Given the description of an element on the screen output the (x, y) to click on. 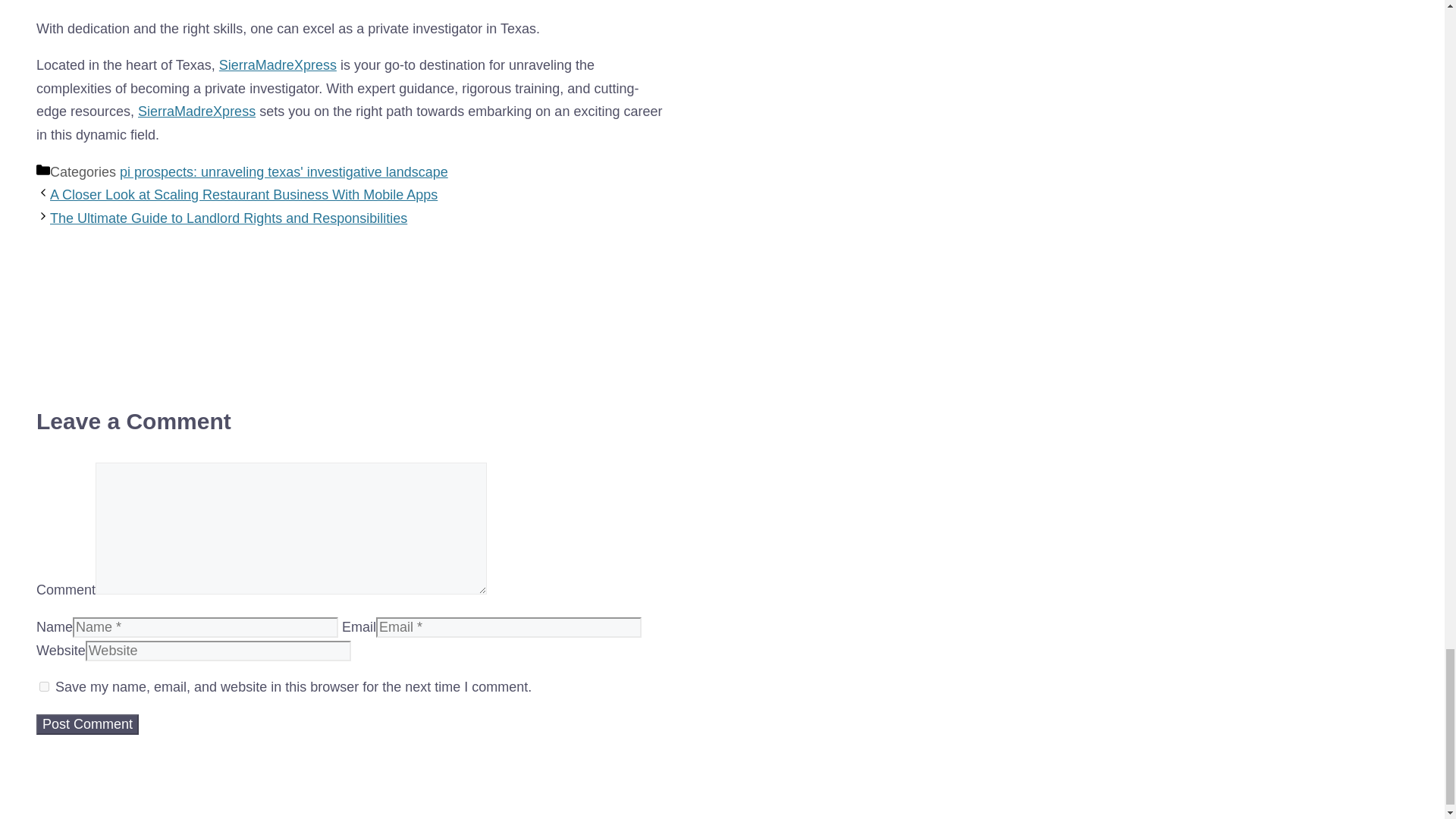
Post Comment (87, 724)
Post Comment (87, 724)
pi prospects: unraveling texas' investigative landscape (283, 171)
SierraMadreXpress (277, 64)
SierraMadreXpress (197, 111)
The Ultimate Guide to Landlord Rights and Responsibilities (228, 218)
yes (44, 686)
